Given the description of an element on the screen output the (x, y) to click on. 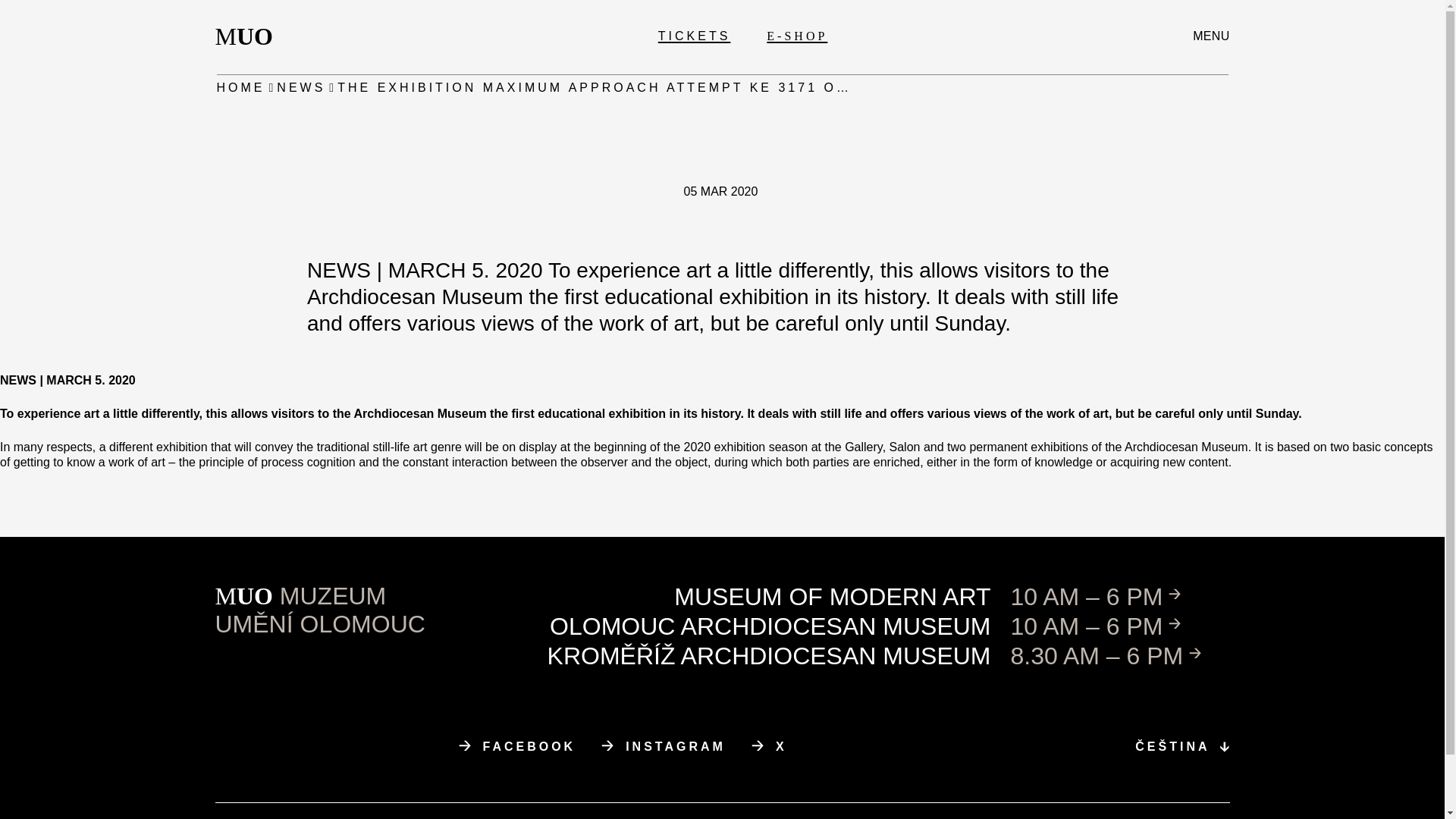
TICKETS (694, 35)
MUSEUM OF MODERN ART (831, 596)
E-SHOP (797, 35)
HOME (240, 88)
OLOMOUC ARCHDIOCESAN MUSEUM (769, 626)
TODAY CLOSED (1120, 596)
MENU (662, 746)
TODAY CLOSED (1210, 35)
TODAY CLOSED (1120, 655)
